Given the description of an element on the screen output the (x, y) to click on. 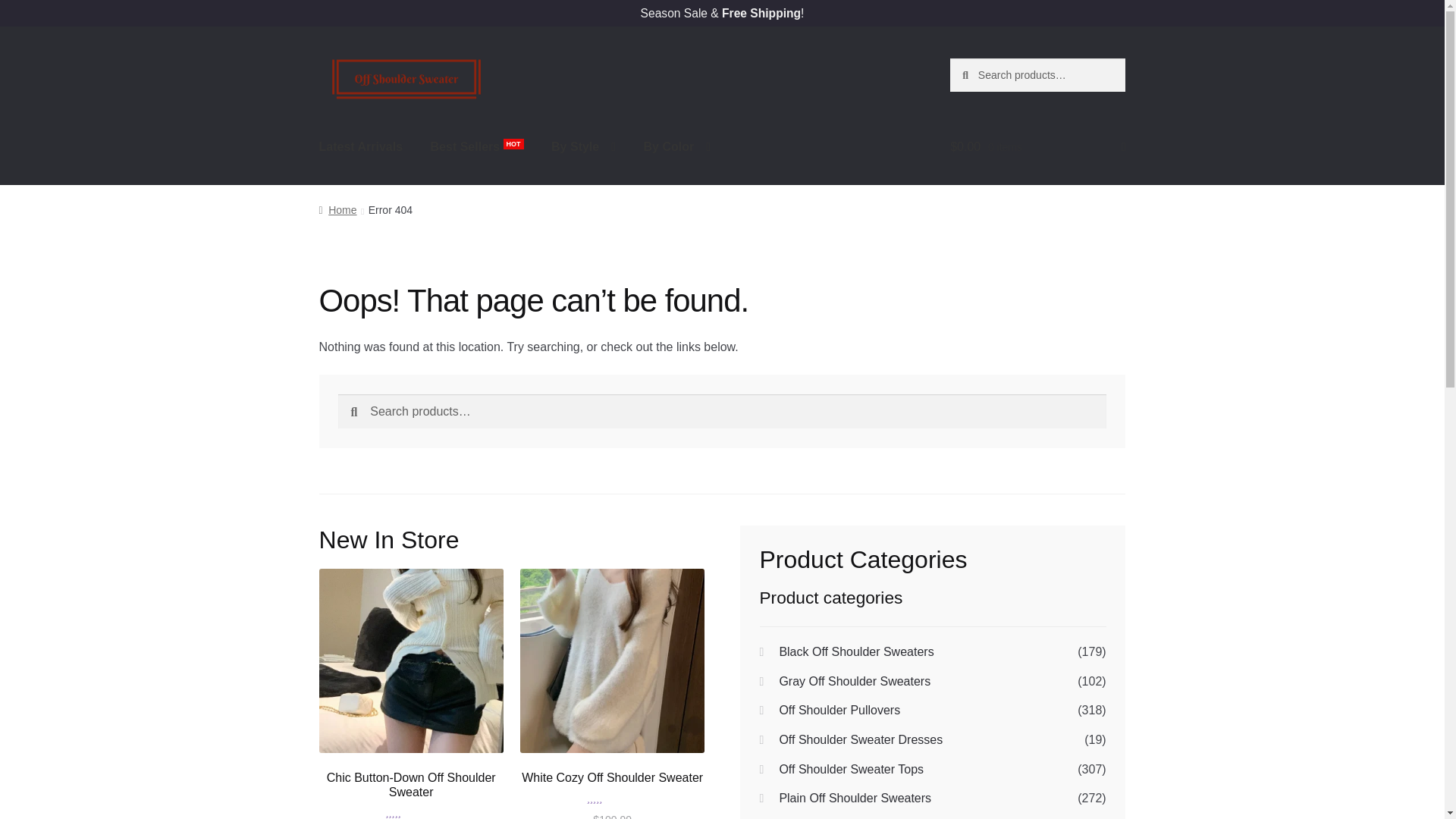
Black Off Shoulder Sweaters (855, 651)
Best Sellers HOT (477, 146)
By Style (582, 146)
Gray Off Shoulder Sweaters (854, 680)
By Color (676, 146)
Latest Arrivals (360, 146)
View your shopping cart (1037, 146)
Home (337, 209)
